Given the description of an element on the screen output the (x, y) to click on. 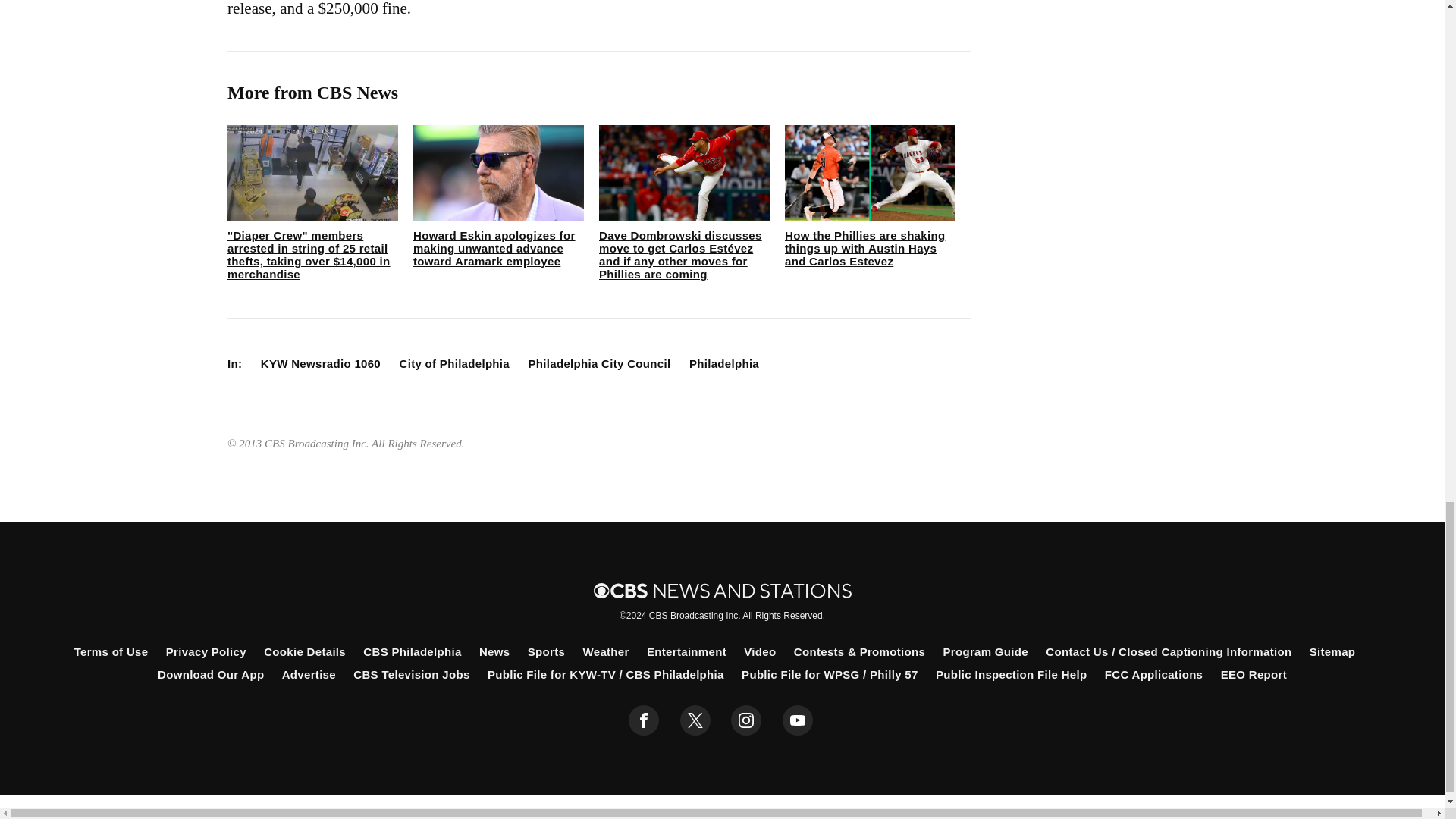
youtube (797, 720)
instagram (745, 720)
facebook (643, 720)
twitter (694, 720)
